Given the description of an element on the screen output the (x, y) to click on. 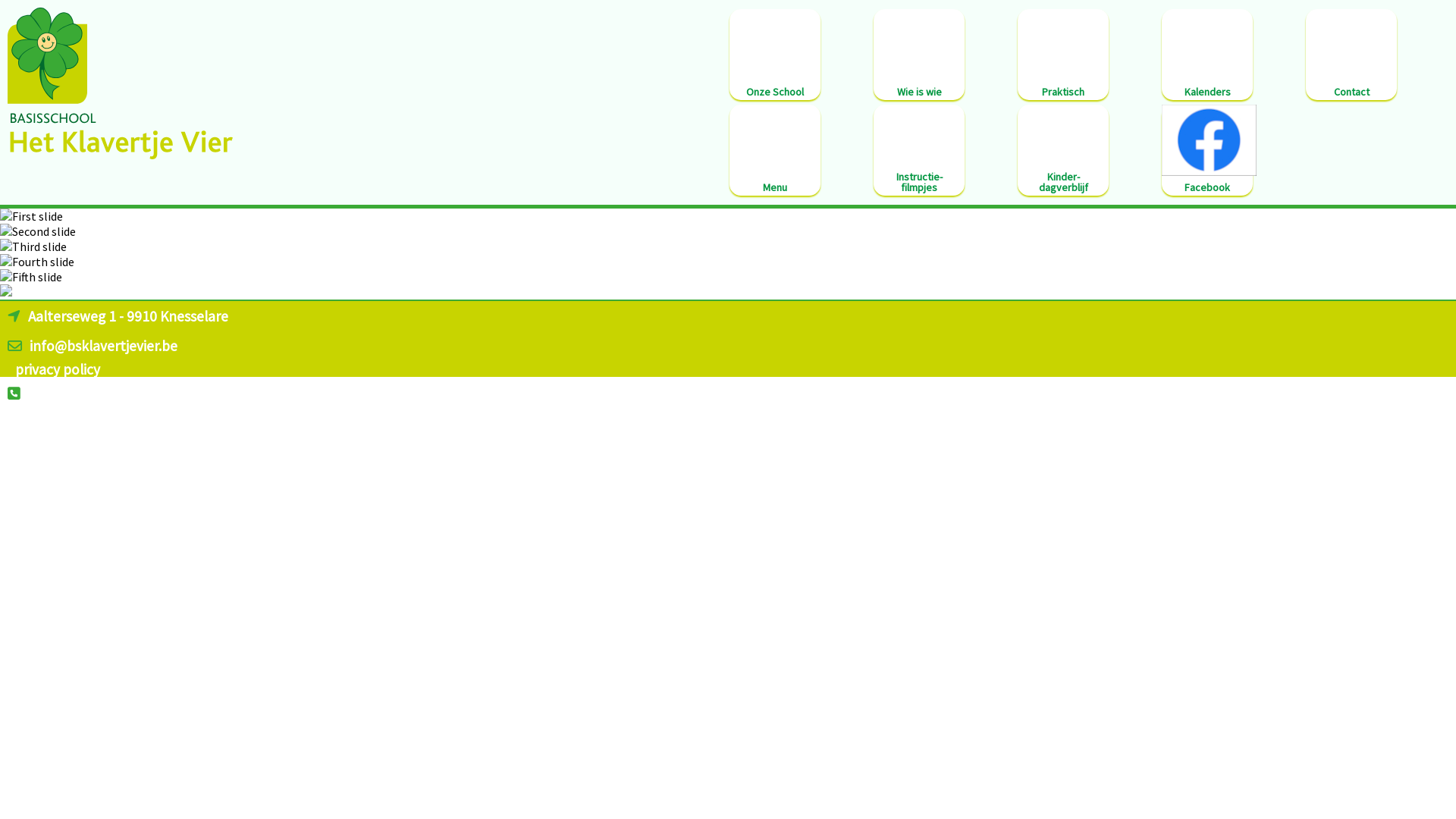
Contact Element type: text (1350, 54)
Praktisch Element type: text (1062, 54)
Instructie-
filmpjes Element type: text (918, 149)
Kalenders Element type: text (1206, 54)
privacy policy Element type: text (57, 369)
Kinder-
dagverblijf Element type: text (1062, 149)
Menu Element type: text (774, 149)
Wie is wie Element type: text (918, 54)
Facebook Element type: text (1206, 149)
Onze School Element type: text (774, 54)
info@bsklavertjevier.be Element type: text (103, 345)
